Given the description of an element on the screen output the (x, y) to click on. 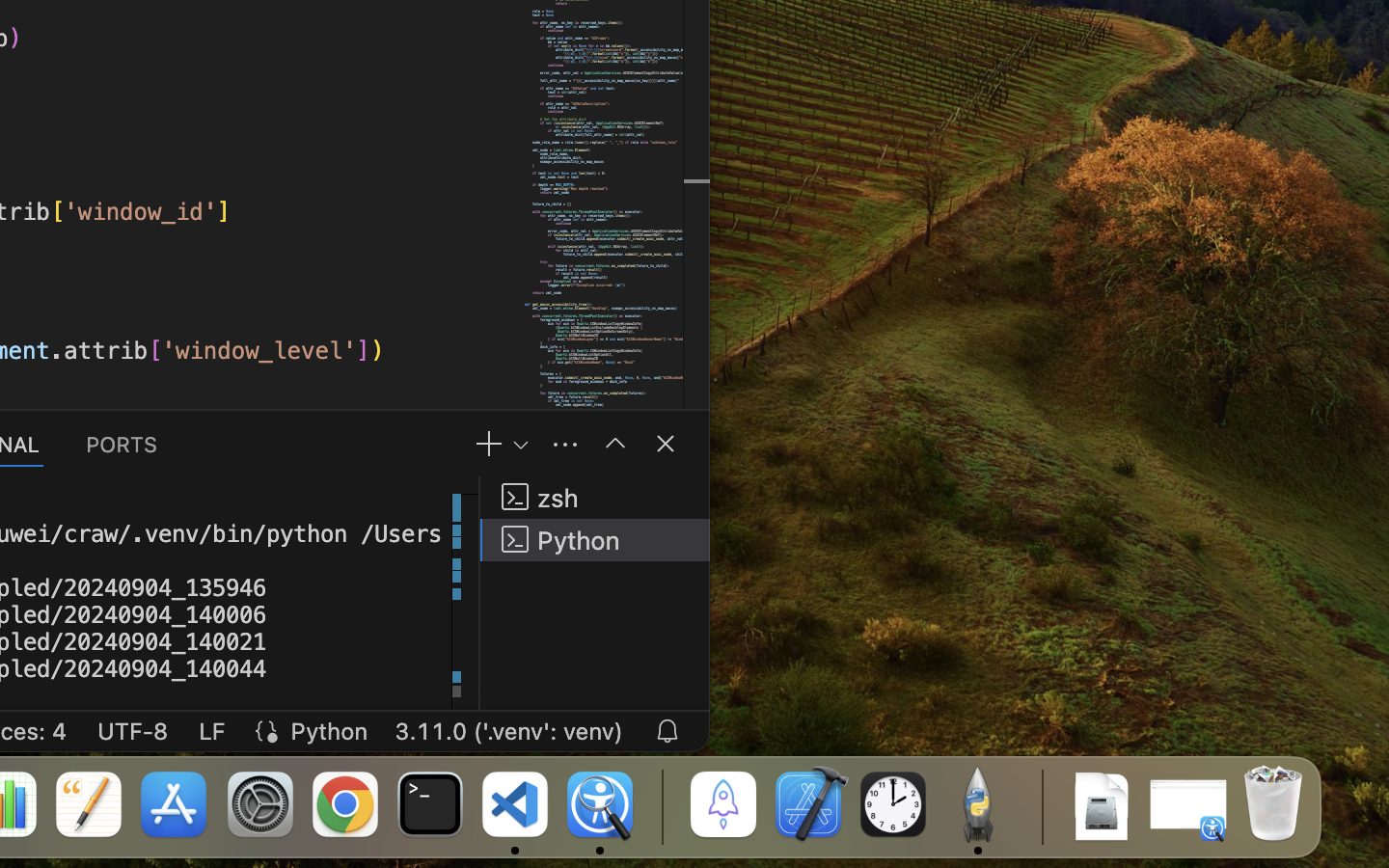
zsh  Element type: AXGroup (594, 497)
